Given the description of an element on the screen output the (x, y) to click on. 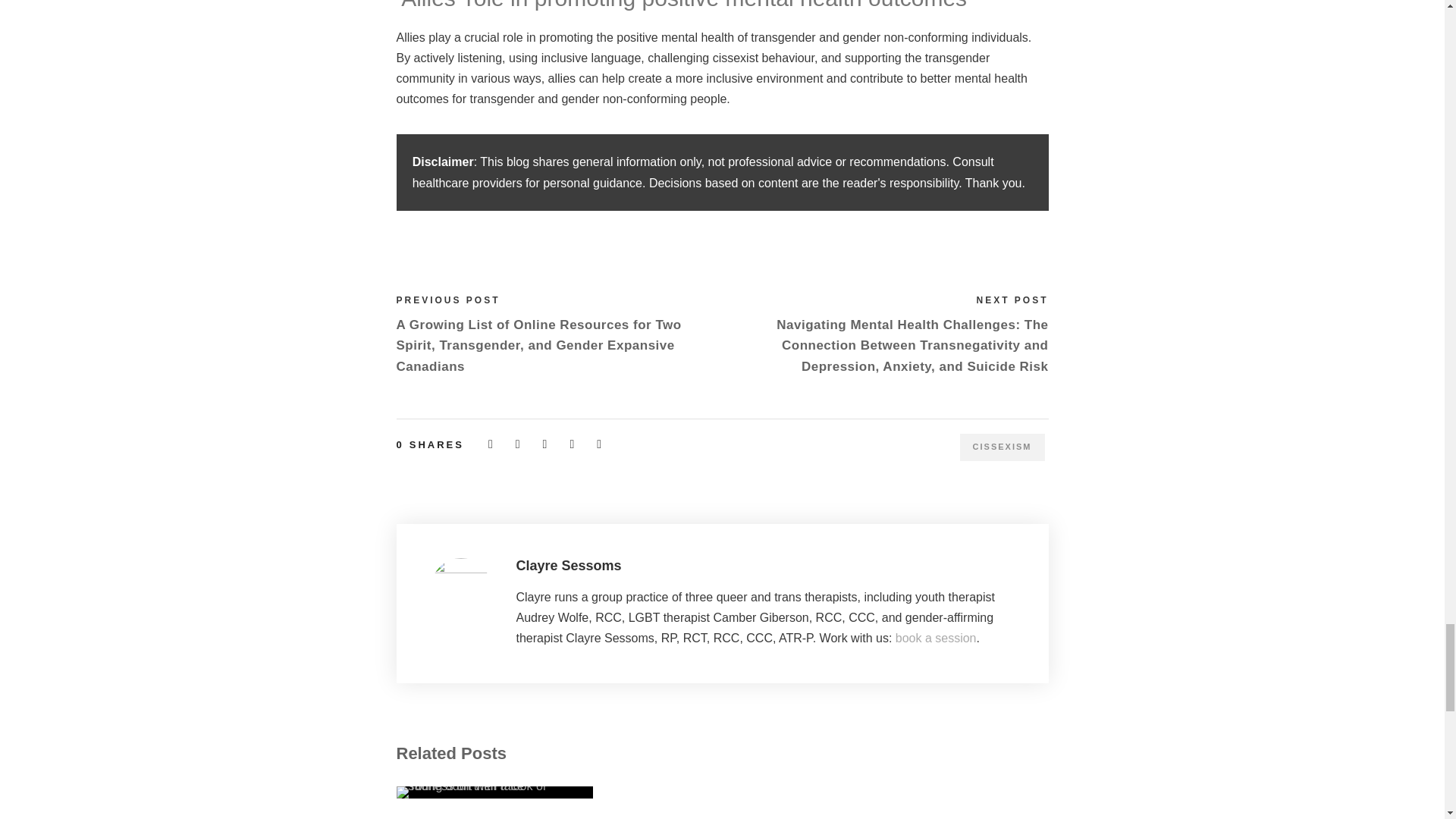
Posts by Clayre Sessoms (568, 565)
CISSEXISM (1002, 447)
Clayre Sessoms (568, 565)
book a session (935, 637)
